Given the description of an element on the screen output the (x, y) to click on. 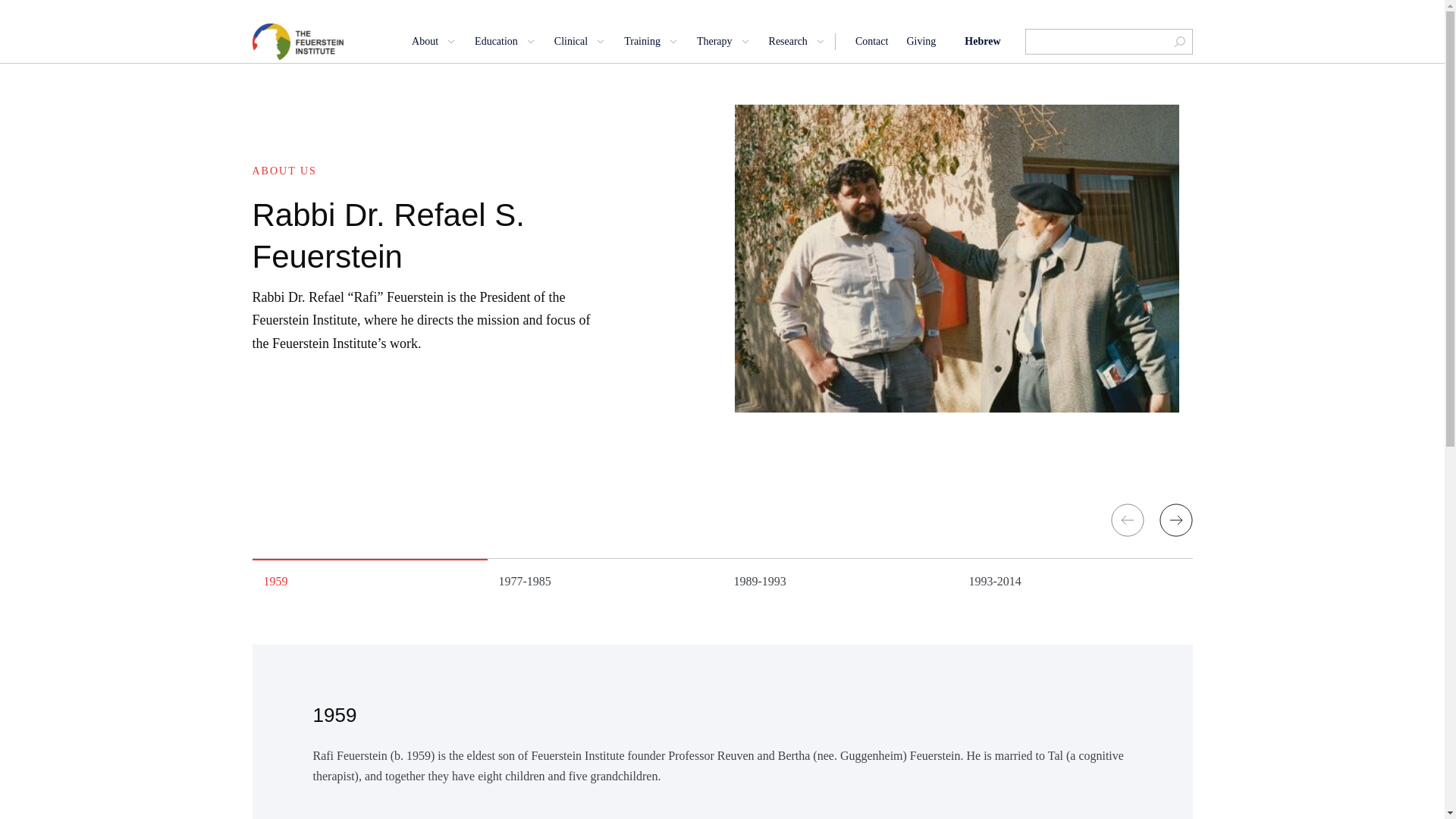
Training (651, 41)
Giving (920, 41)
Clinical (579, 41)
Therapy (724, 41)
Contact (872, 41)
Hebrew (981, 41)
Research (796, 41)
Education (504, 41)
About (434, 41)
